Given the description of an element on the screen output the (x, y) to click on. 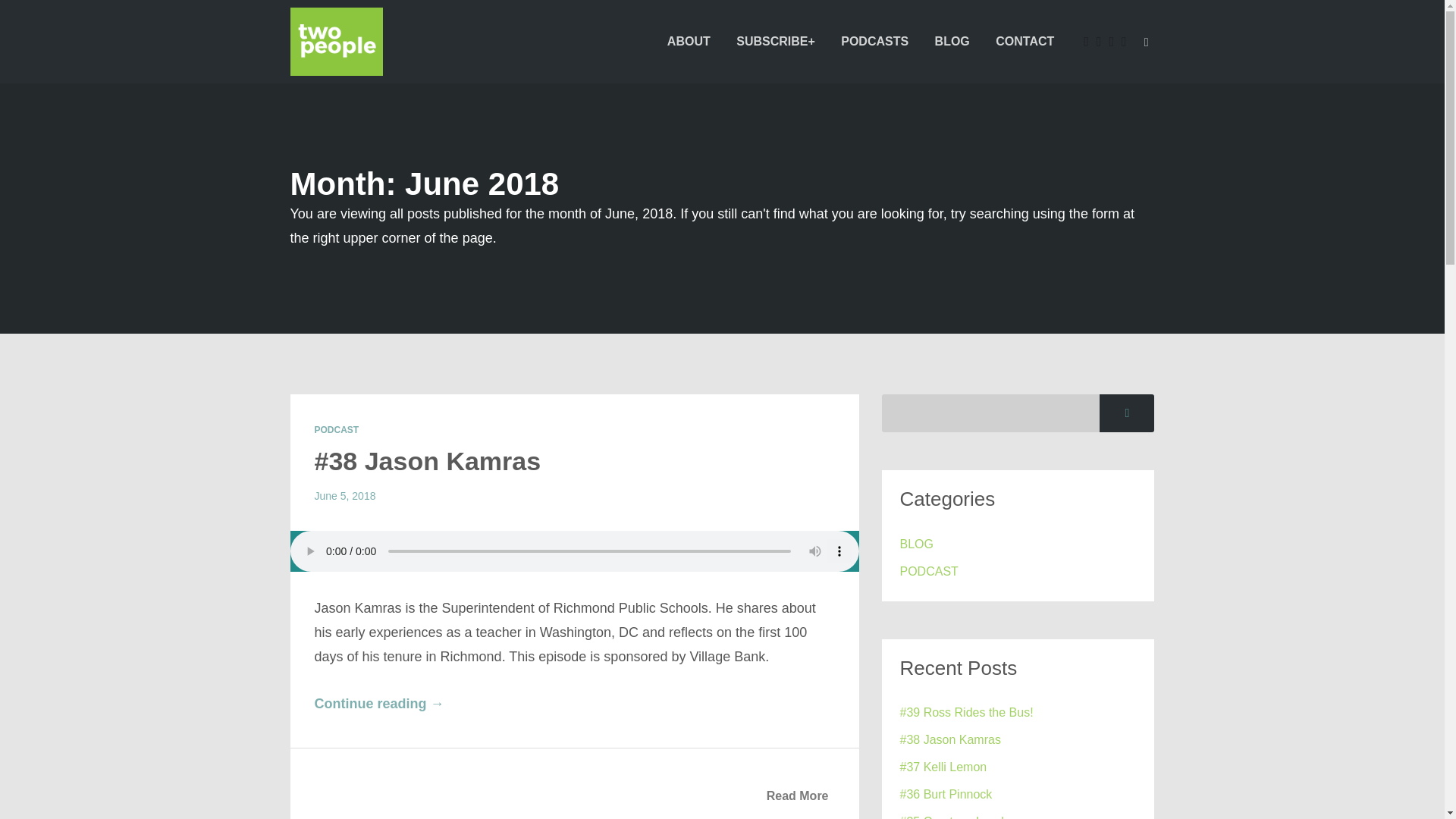
Read More (797, 795)
June 5, 2018 (344, 495)
PODCAST (928, 570)
CONTACT (1024, 41)
BLOG (916, 543)
PODCASTS (874, 41)
PODCAST (336, 429)
